Given the description of an element on the screen output the (x, y) to click on. 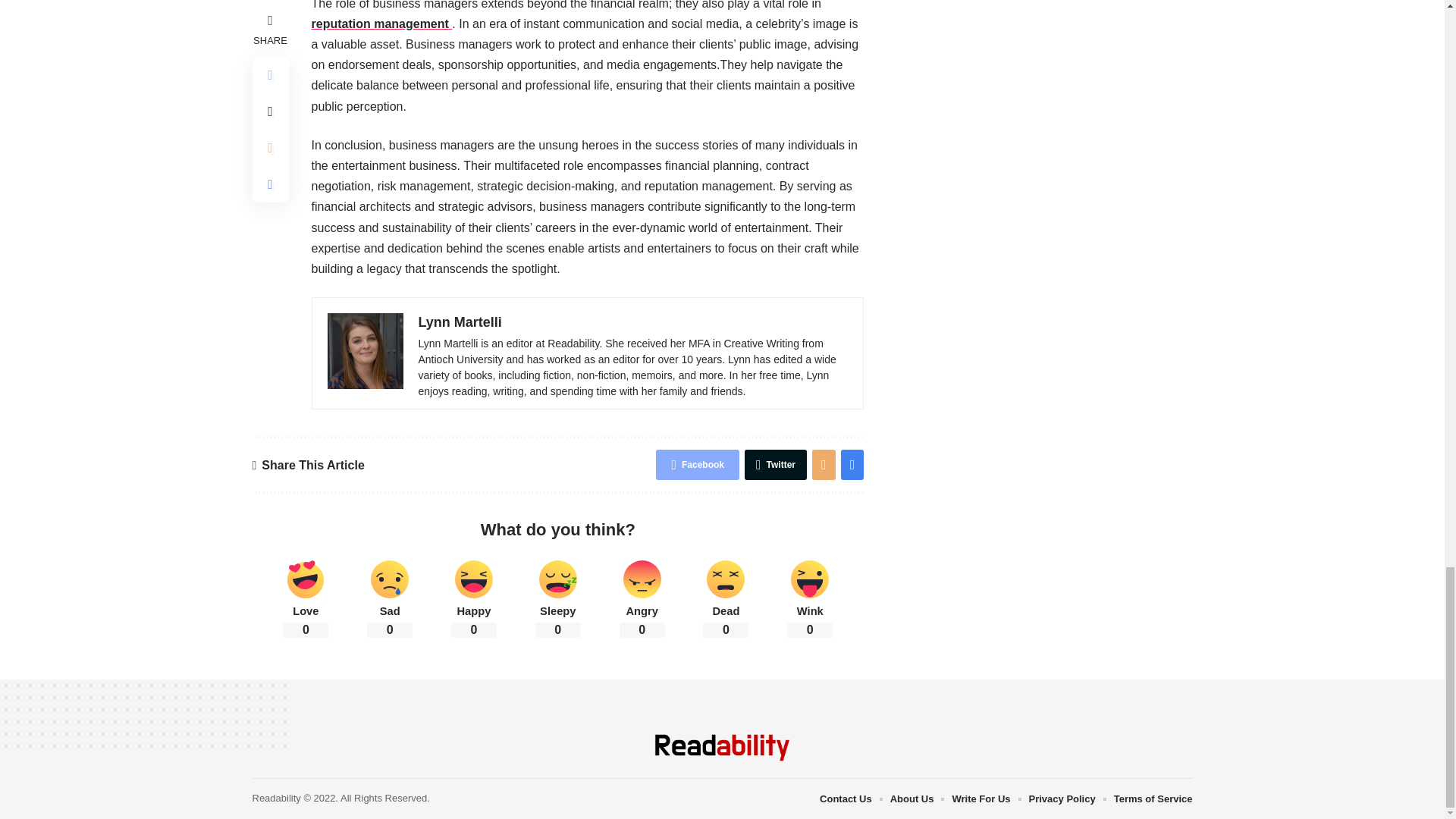
Readability (722, 747)
